Given the description of an element on the screen output the (x, y) to click on. 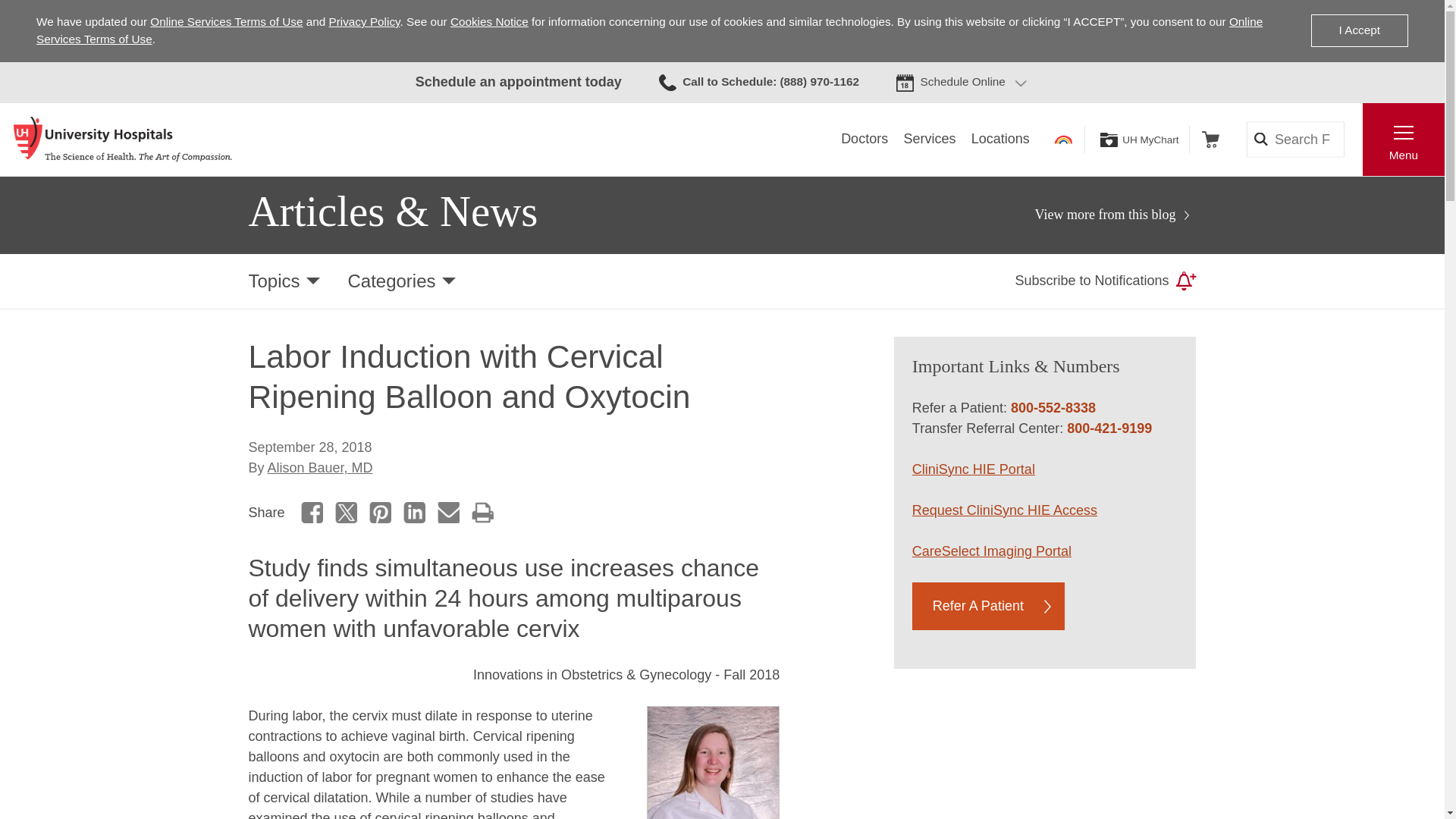
Privacy Policy (363, 21)
Schedule Online (962, 81)
Online Services Terms of Use (649, 30)
Cookies Notice (488, 21)
I Accept (1359, 30)
Online Services Terms of Use (225, 21)
